Given the description of an element on the screen output the (x, y) to click on. 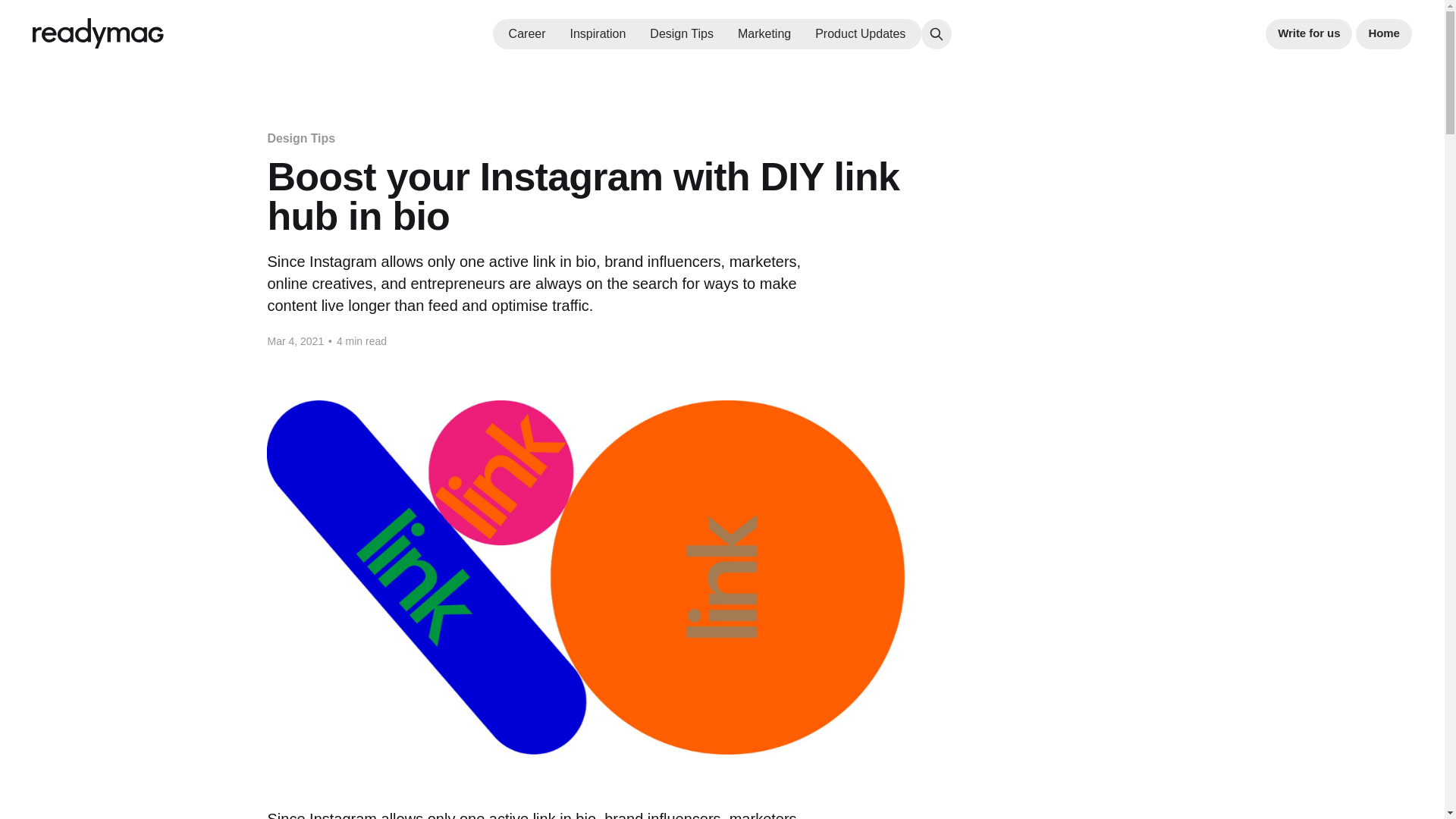
Design Tips (681, 33)
Inspiration (598, 33)
Career (527, 33)
Write for us (1308, 33)
Marketing (764, 33)
Product Updates (860, 33)
Home (1382, 33)
Design Tips (300, 137)
